Given the description of an element on the screen output the (x, y) to click on. 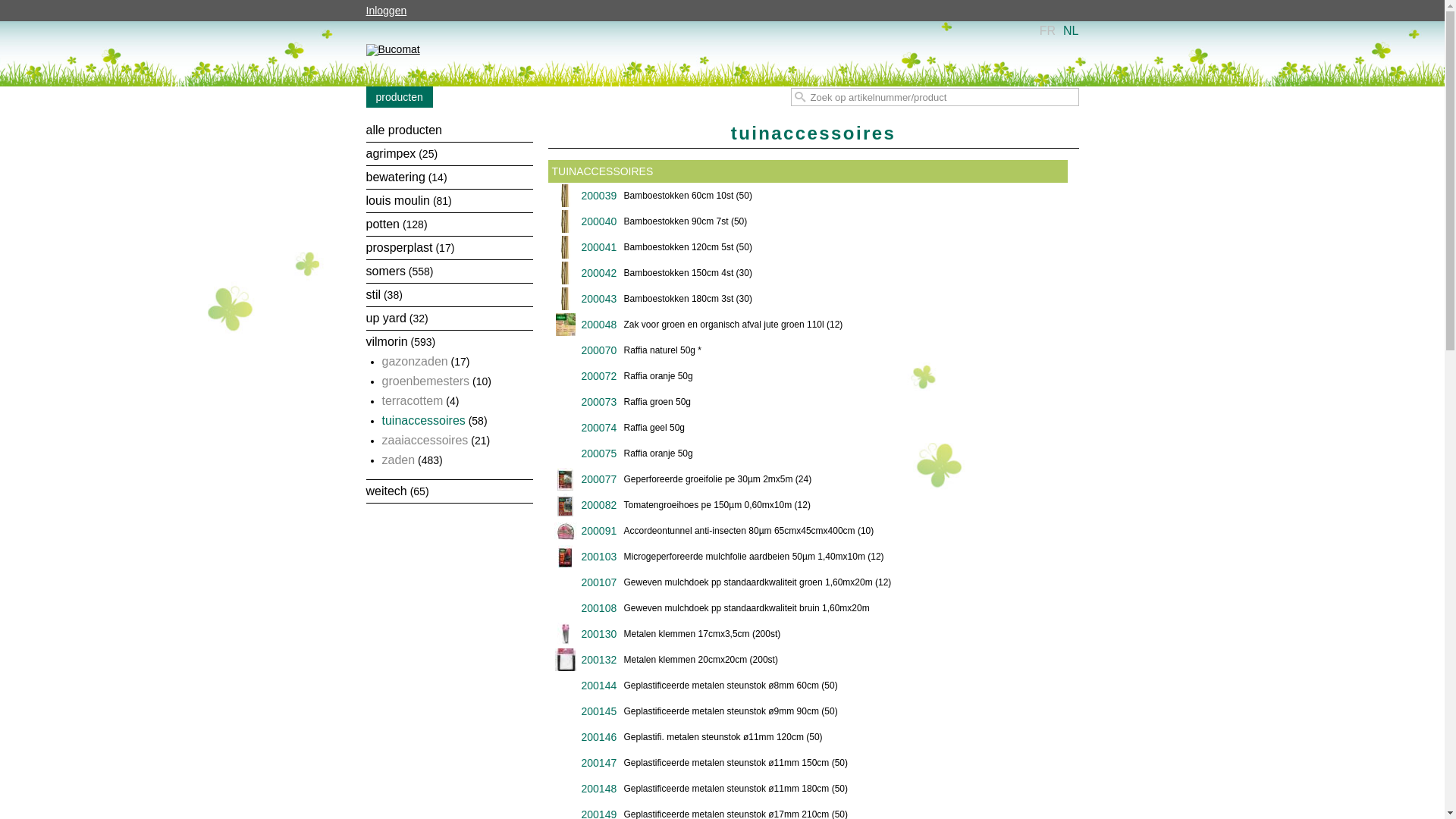
200043 bamboestokken 180cm 3st (30) Element type: text (807, 298)
200074 raffia geel 50g Element type: text (807, 427)
200130 metalen klemmen 17cmx3,5cm (200st) Element type: text (807, 633)
groenbemesters Element type: text (426, 380)
producten Element type: text (398, 96)
Bucomat Element type: hover (392, 50)
FR Element type: text (1047, 30)
zaden Element type: text (398, 459)
200041 bamboestokken 120cm 5st (50) Element type: text (807, 246)
weitech Element type: text (385, 490)
louis moulin Element type: text (397, 200)
somers Element type: text (384, 270)
tuinaccessoires Element type: text (423, 420)
Overslaan en naar de inhoud gaan Element type: text (698, 22)
200072 raffia oranje 50g Element type: text (807, 376)
200040 bamboestokken 90cm 7st (50) Element type: text (807, 221)
200070 raffia naturel 50g * Element type: text (807, 350)
gazonzaden Element type: text (415, 360)
vilmorin Element type: text (386, 341)
200042 bamboestokken 150cm 4st (30) Element type: text (807, 272)
Inloggen Element type: text (390, 10)
potten Element type: text (381, 223)
terracottem Element type: text (412, 400)
200132 metalen klemmen 20cmx20cm (200st) Element type: text (807, 659)
agrimpex Element type: text (390, 153)
bewatering Element type: text (394, 176)
prosperplast Element type: text (398, 247)
stil Element type: text (372, 294)
NL Element type: text (1070, 30)
200075 raffia oranje 50g Element type: text (807, 453)
up yard Element type: text (385, 317)
alle producten Element type: text (403, 129)
200073 raffia groen 50g Element type: text (807, 401)
zaaiaccessoires Element type: text (425, 439)
200039 bamboestokken 60cm 10st (50) Element type: text (807, 195)
